Given the description of an element on the screen output the (x, y) to click on. 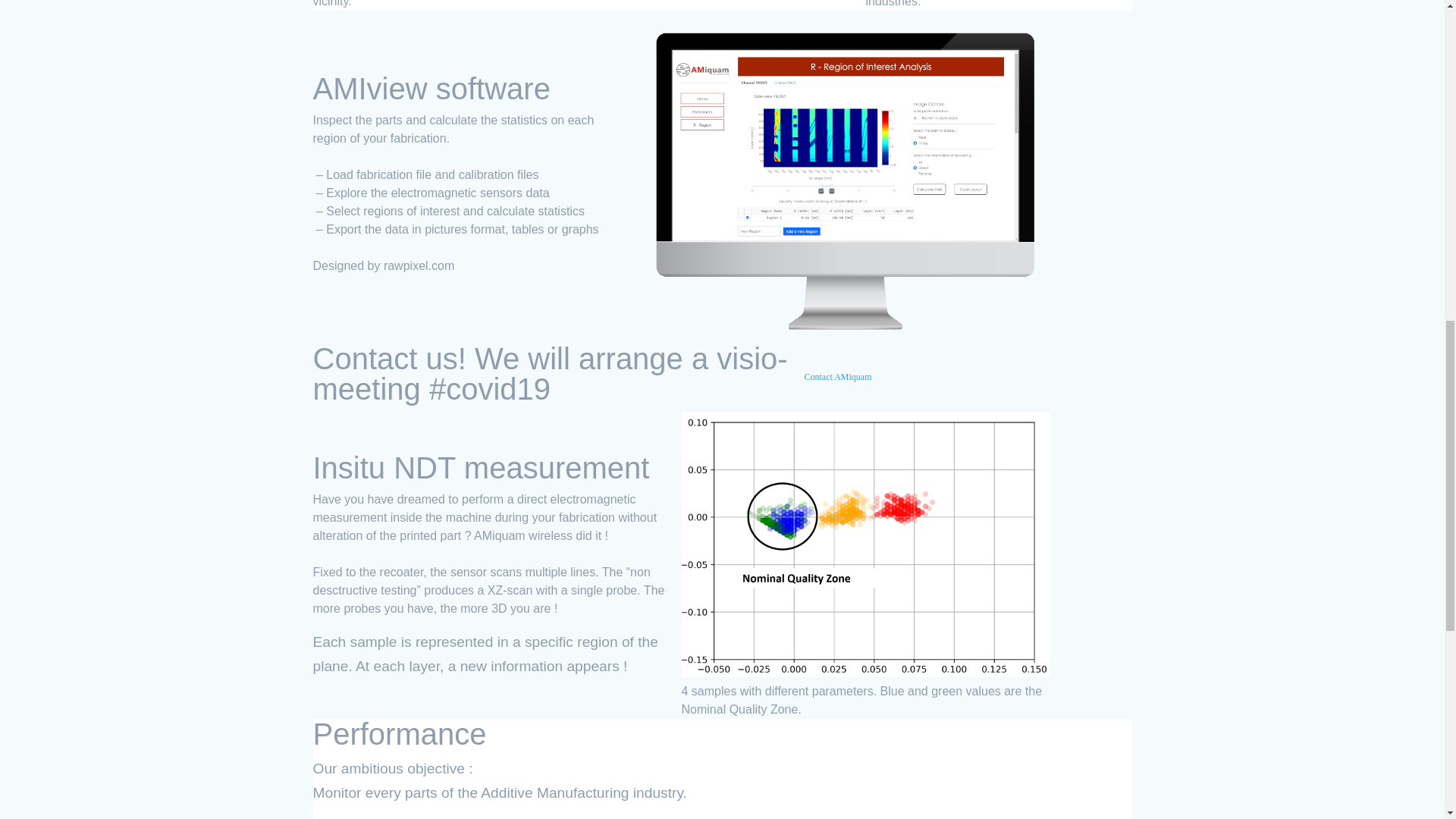
Designed by rawpixel.com (383, 270)
Contact AMiquam (845, 380)
quality-zone (865, 544)
